Given the description of an element on the screen output the (x, y) to click on. 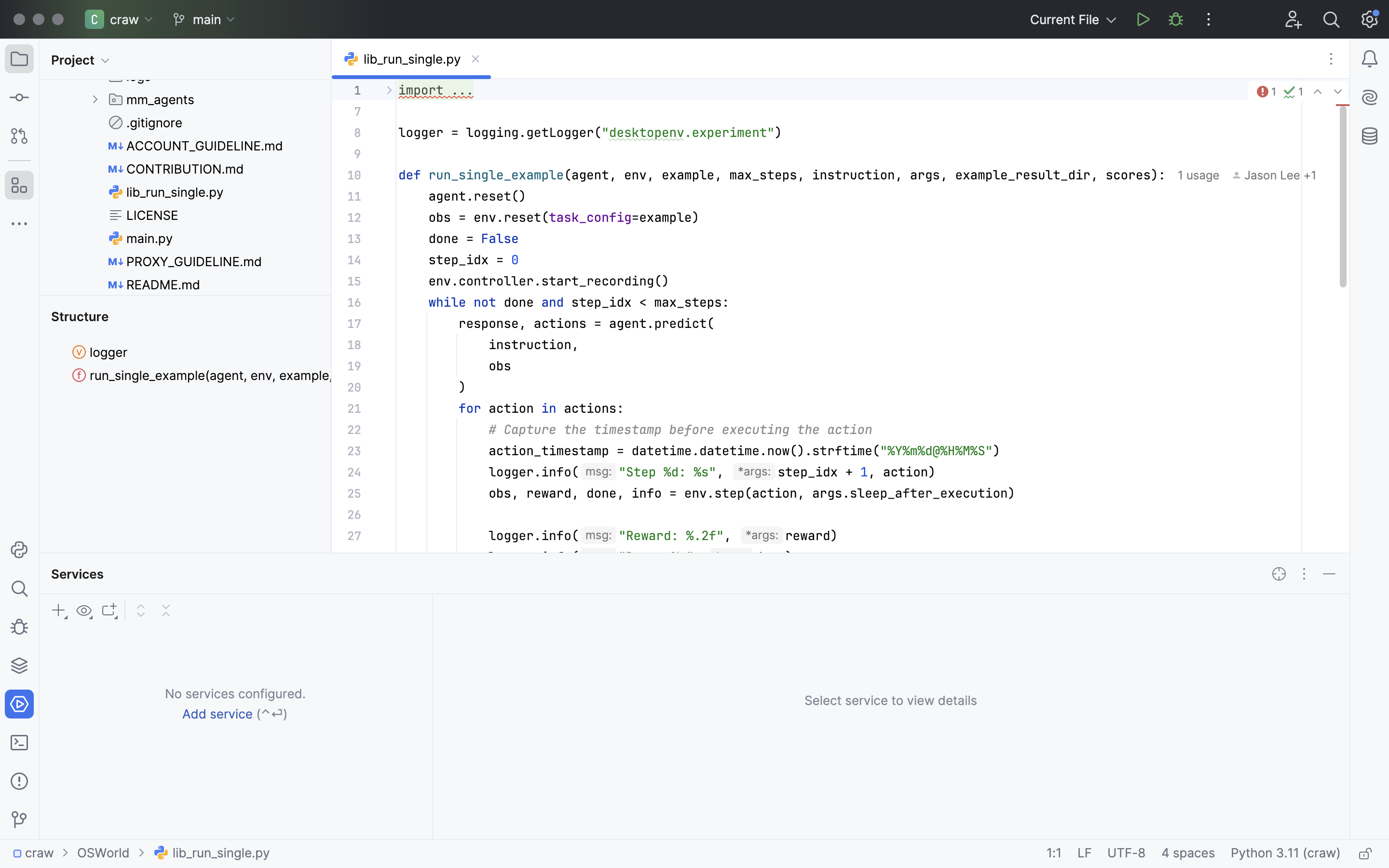
0 0 Structure 0 0 0 0 0 0 0 0 0 0 0 Element type: AXGroup (185, 424)
Python 3.11 (craw) Element type: AXStaticText (1285, 854)
craw – lib_run_single.py Element type: AXStaticText (694, 12)
UTF-8 Element type: AXStaticText (1126, 854)
